Given the description of an element on the screen output the (x, y) to click on. 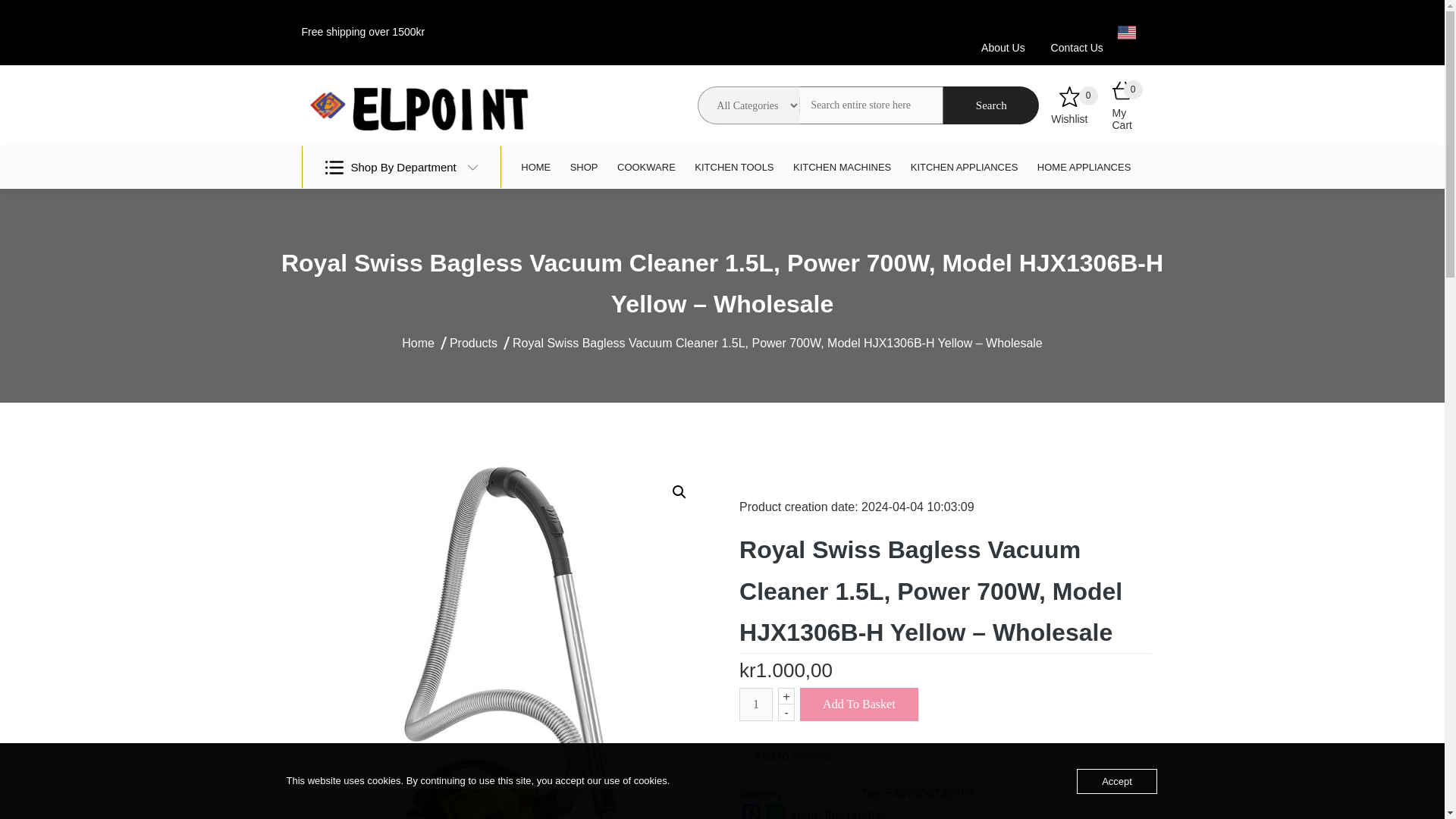
1 (756, 704)
Products (473, 342)
Contact Us (1077, 47)
Home (417, 342)
KITCHEN MACHINES (842, 167)
KITCHEN TOOLS (734, 167)
Search (991, 105)
My Wishlist (1069, 99)
About Us (1002, 47)
HOME (536, 167)
WhatsApp (774, 811)
Elpoint (336, 189)
0 (1069, 99)
HOME APPLIANCES (1083, 167)
